Given the description of an element on the screen output the (x, y) to click on. 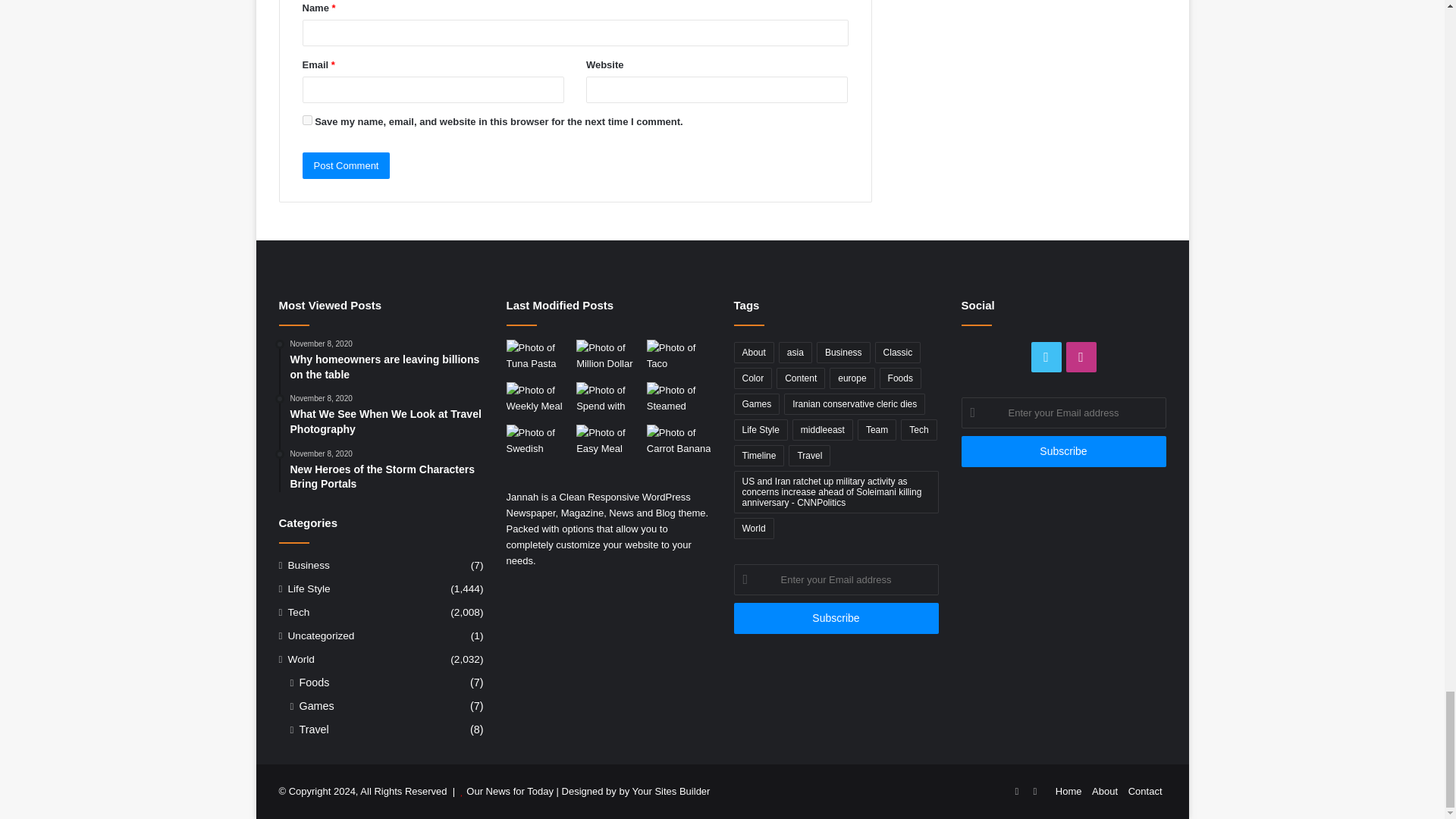
yes (306, 120)
Subscribe (836, 617)
Subscribe (1063, 450)
Post Comment (345, 165)
